Given the description of an element on the screen output the (x, y) to click on. 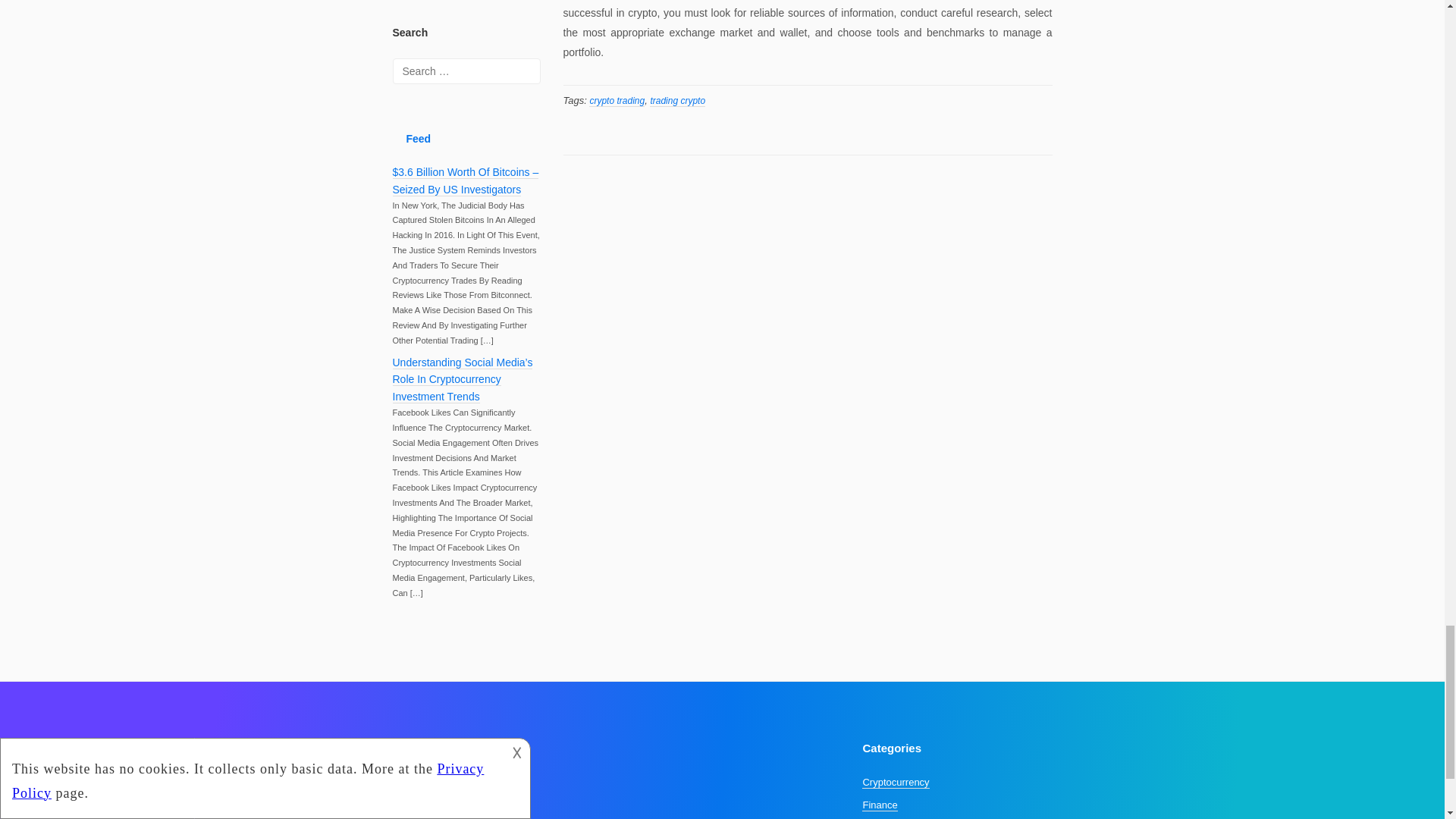
trading crypto (676, 101)
crypto trading (617, 101)
